Given the description of an element on the screen output the (x, y) to click on. 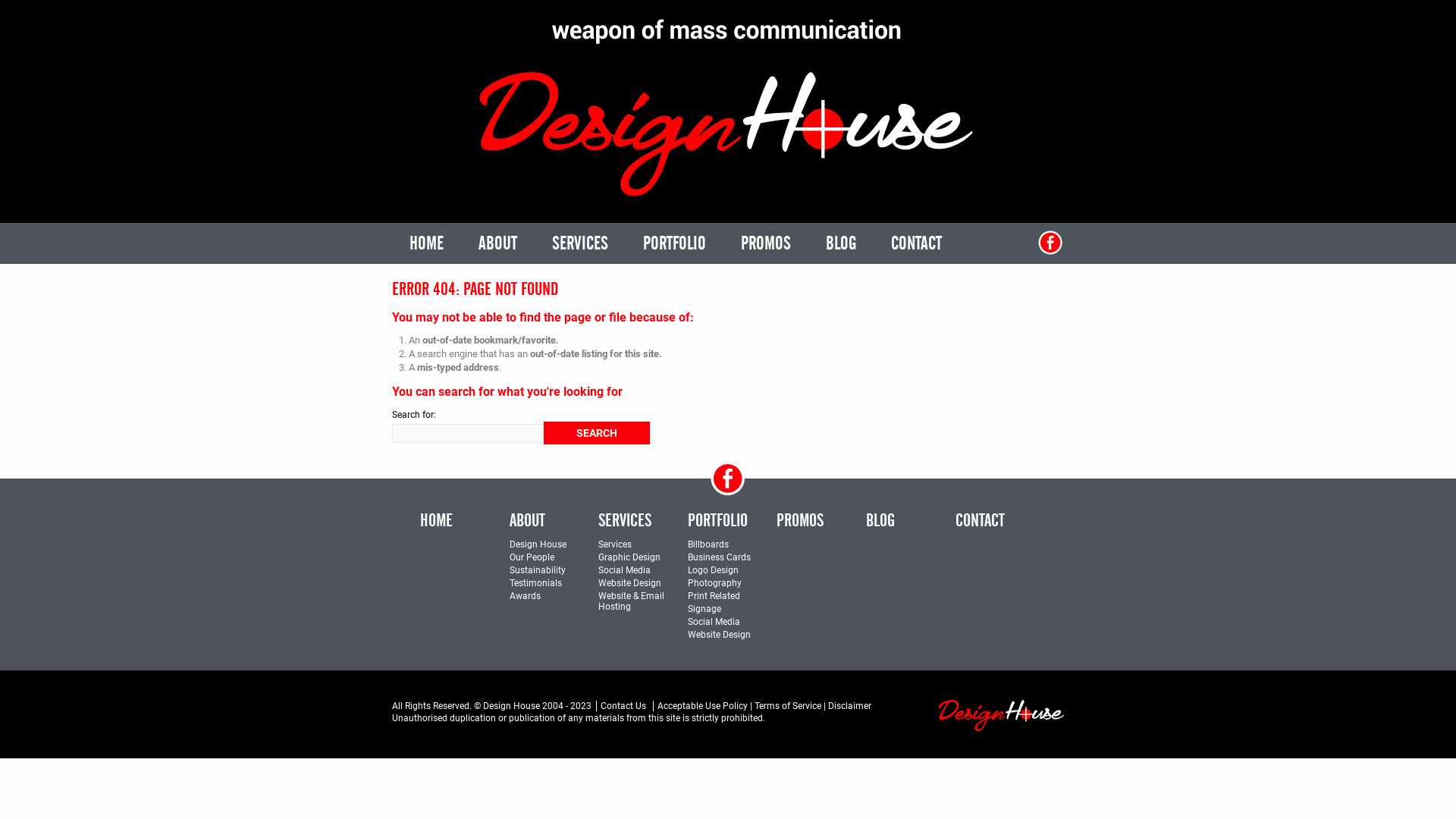
Design House Element type: text (727, 105)
CONTACT Element type: text (916, 242)
Signage Element type: text (704, 608)
Facebook Element type: text (727, 478)
PROMOS Element type: text (765, 242)
Sustainability Element type: text (537, 569)
PORTFOLIO Element type: text (674, 242)
Design House Element type: text (1000, 715)
Social Media Element type: text (713, 621)
Acceptable Use Policy | Terms of Service | Disclaimer Element type: text (761, 705)
HOME Element type: text (436, 521)
Testimonials Element type: text (535, 582)
Search Element type: text (596, 432)
Contact Us Element type: text (621, 705)
PORTFOLIO Element type: text (717, 521)
Our People Element type: text (531, 557)
Facebook Element type: text (1050, 242)
Website & Email Hosting Element type: text (631, 600)
Website Design Element type: text (629, 582)
Services Element type: text (614, 544)
Design House Element type: text (537, 544)
Website Design Element type: text (718, 634)
CONTACT Element type: text (979, 521)
SERVICES Element type: text (579, 242)
HOME Element type: text (426, 242)
Photography Element type: text (714, 582)
Business Cards Element type: text (718, 557)
Awards Element type: text (524, 595)
BLOG Element type: text (880, 521)
Social Media Element type: text (624, 569)
PROMOS Element type: text (799, 521)
ABOUT Element type: text (527, 521)
ABOUT Element type: text (497, 242)
SERVICES Element type: text (624, 521)
Graphic Design Element type: text (629, 557)
Billboards Element type: text (707, 544)
Logo Design Element type: text (712, 569)
BLOG Element type: text (840, 242)
Print Related Element type: text (713, 595)
